Given the description of an element on the screen output the (x, y) to click on. 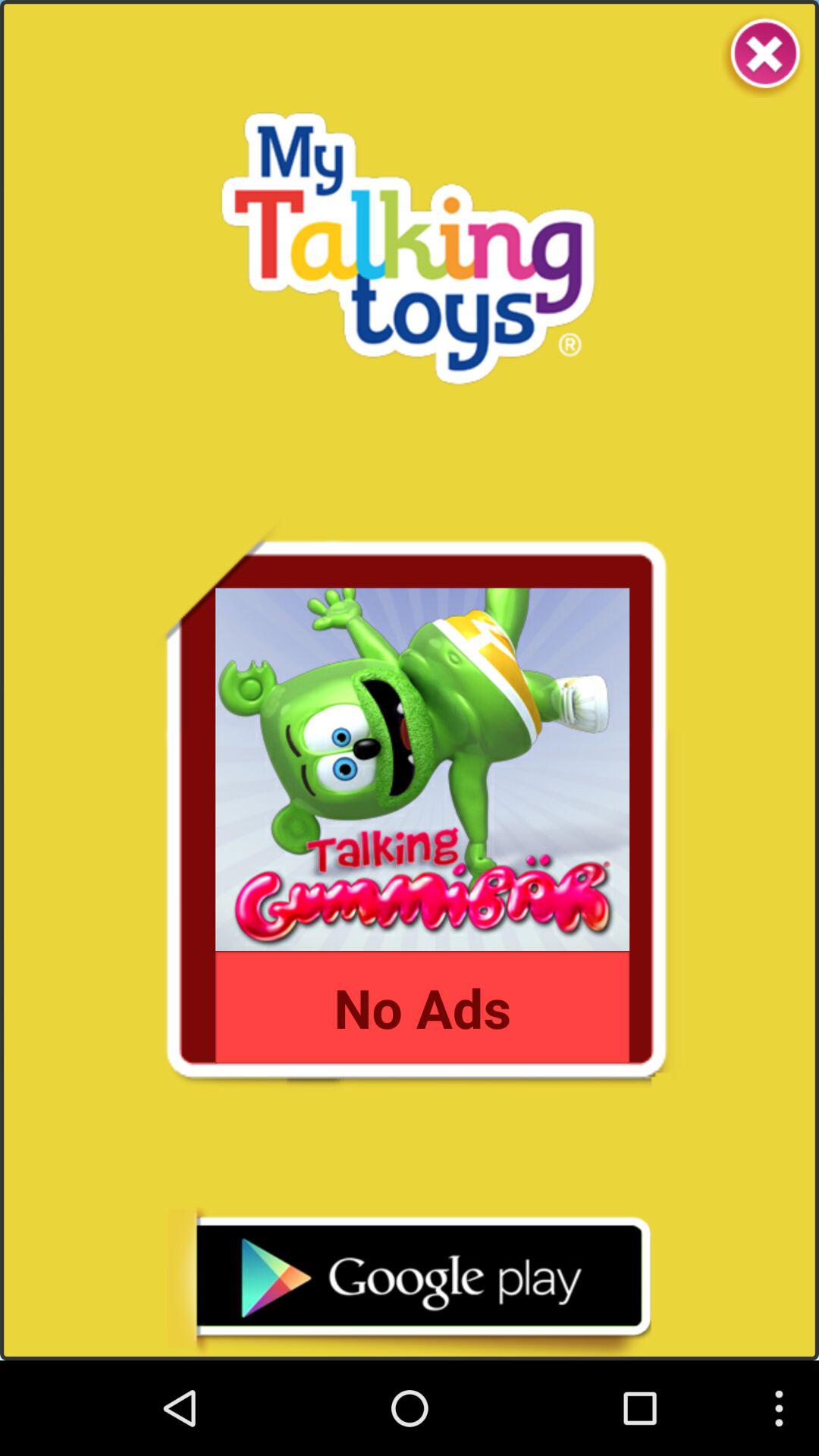
close it (762, 55)
